Given the description of an element on the screen output the (x, y) to click on. 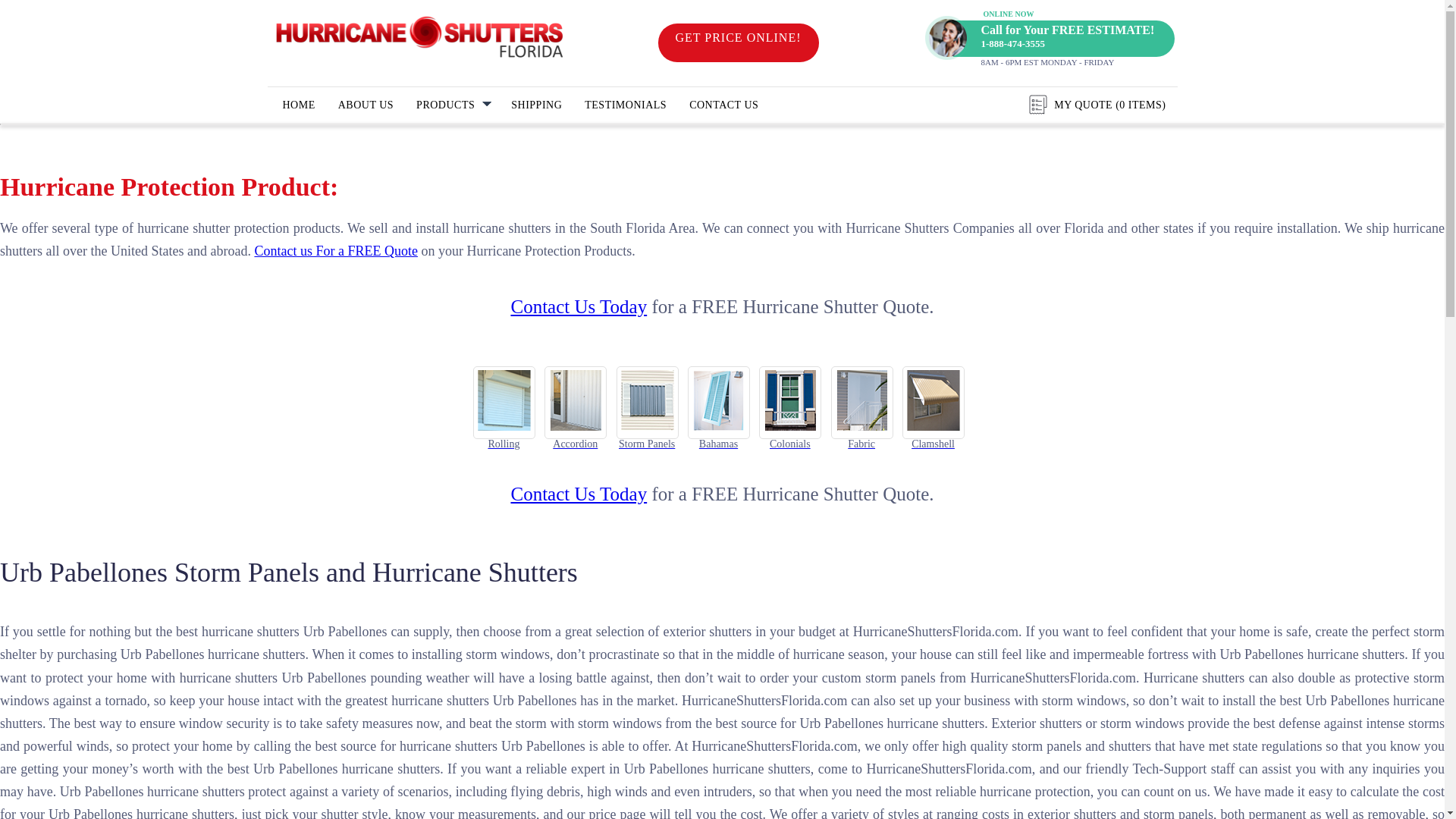
Contact us For a FREE Quote (334, 250)
Rolling (504, 402)
Storm Panels (646, 402)
PRODUCTS (452, 104)
TESTIMONIALS (625, 104)
CONTACT US (723, 104)
ABOUT US (365, 104)
Logo (419, 38)
SHIPPING (536, 104)
HOME (297, 104)
GET PRICE ONLINE! (738, 42)
Contact Us Today (578, 306)
Accordion (575, 402)
